Given the description of an element on the screen output the (x, y) to click on. 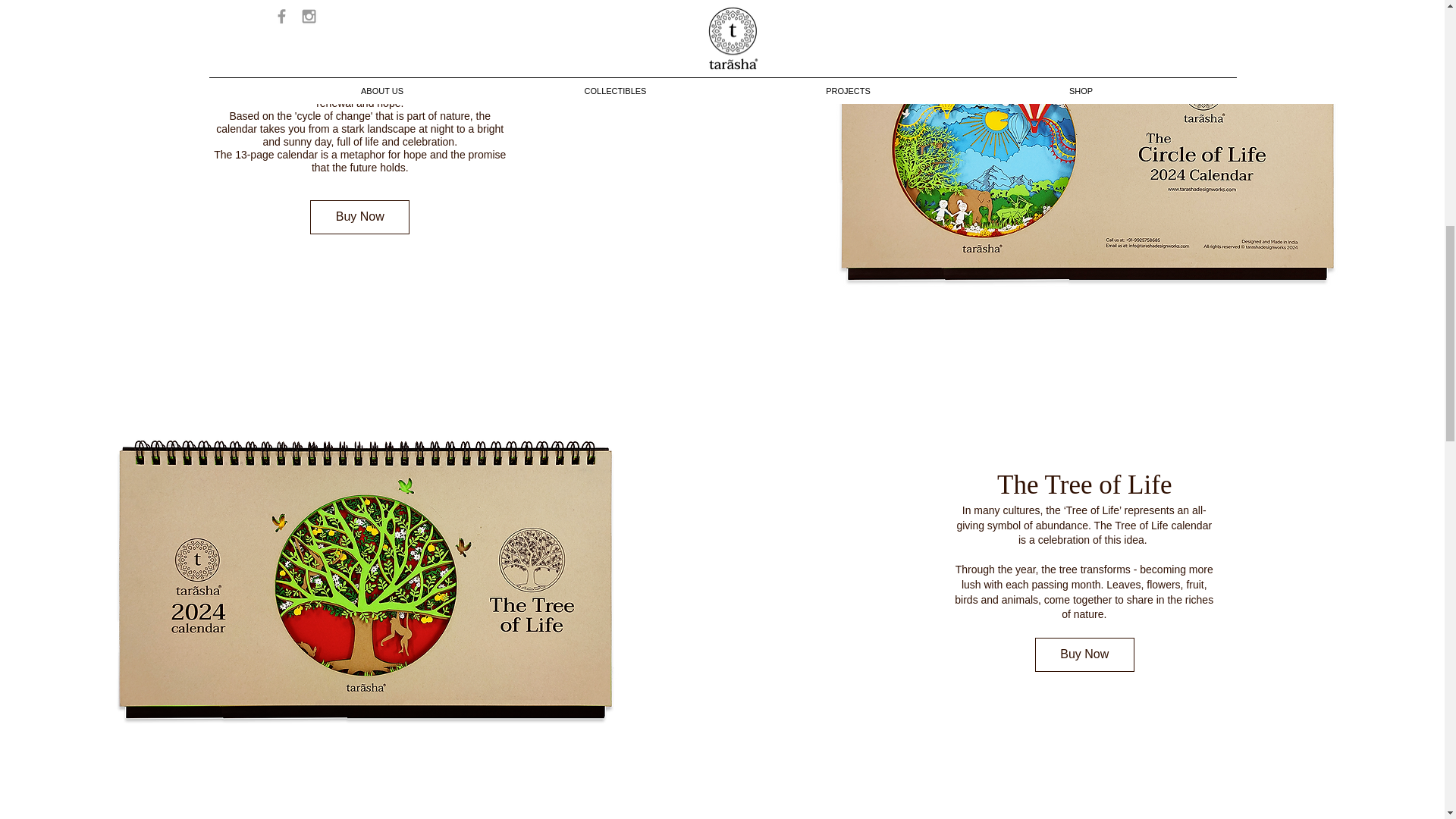
Buy Now (359, 216)
Buy Now (1084, 654)
